Given the description of an element on the screen output the (x, y) to click on. 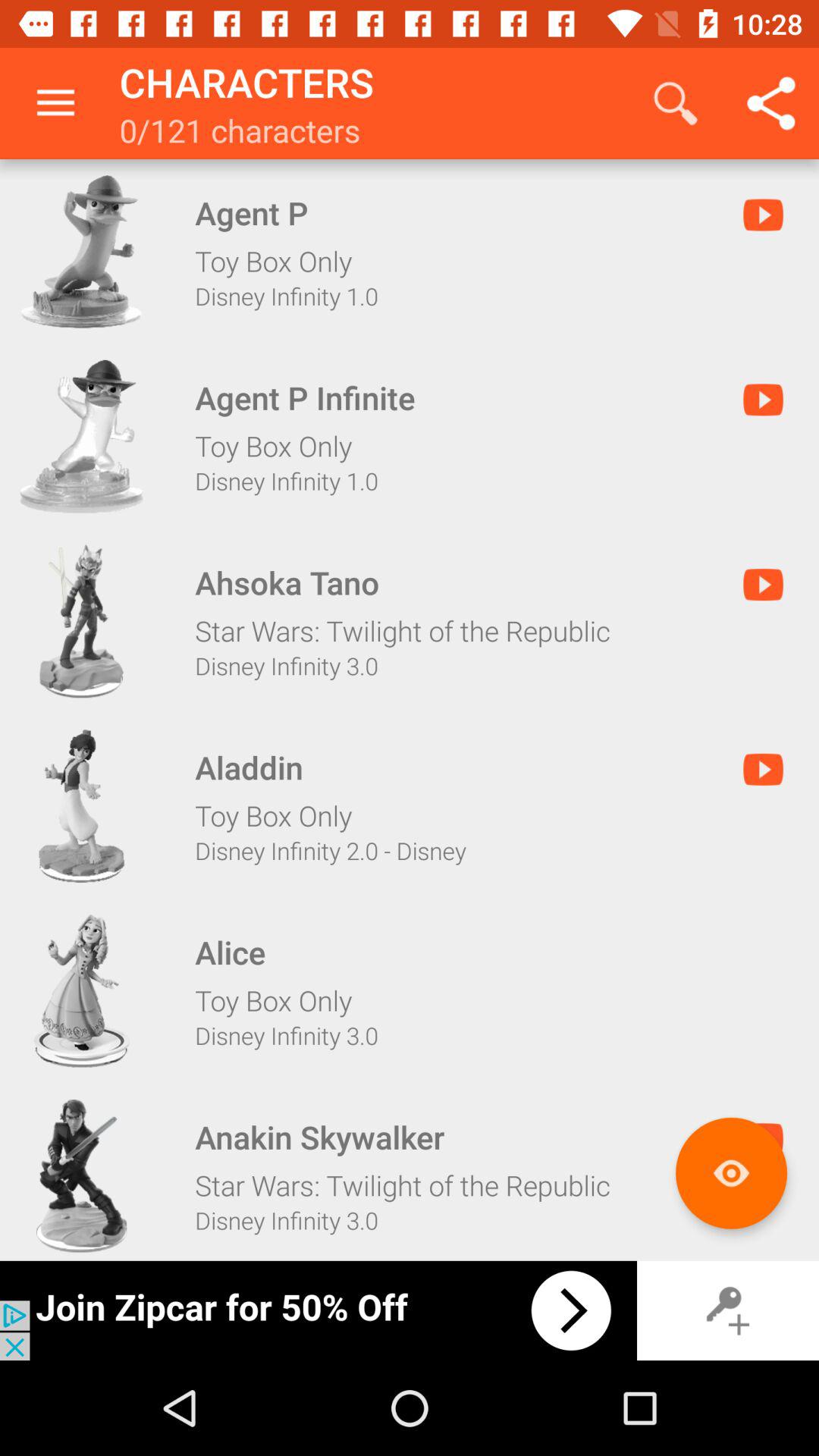
select alice toy bix (81, 990)
